Given the description of an element on the screen output the (x, y) to click on. 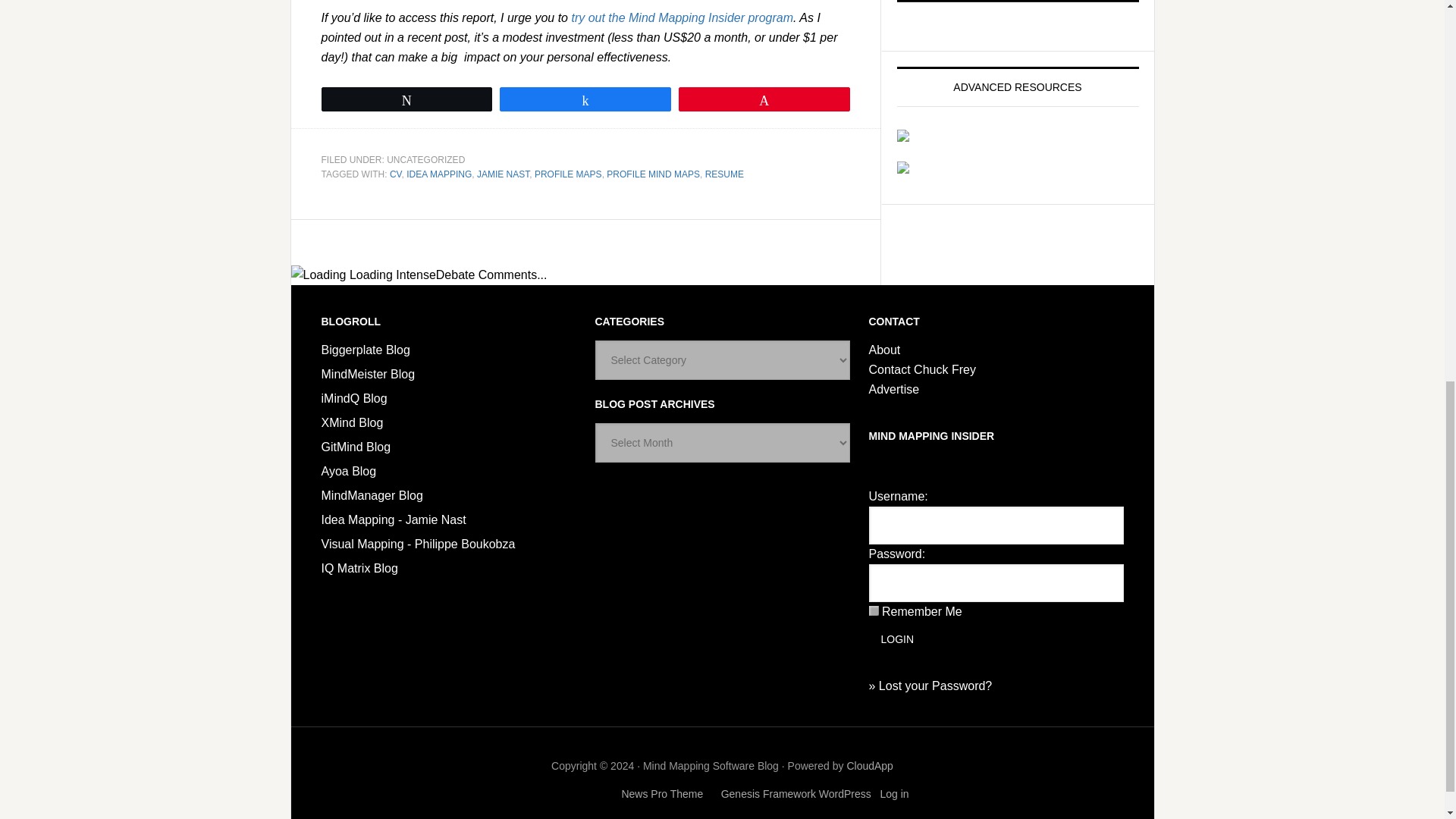
PROFILE MIND MAPS (653, 173)
RESUME (724, 173)
PROFILE MAPS (568, 173)
Login (897, 638)
CV (395, 173)
IDEA MAPPING (438, 173)
forever (874, 610)
JAMIE NAST (503, 173)
CloudApp (869, 766)
try out the Mind Mapping Insider program (681, 17)
